Given the description of an element on the screen output the (x, y) to click on. 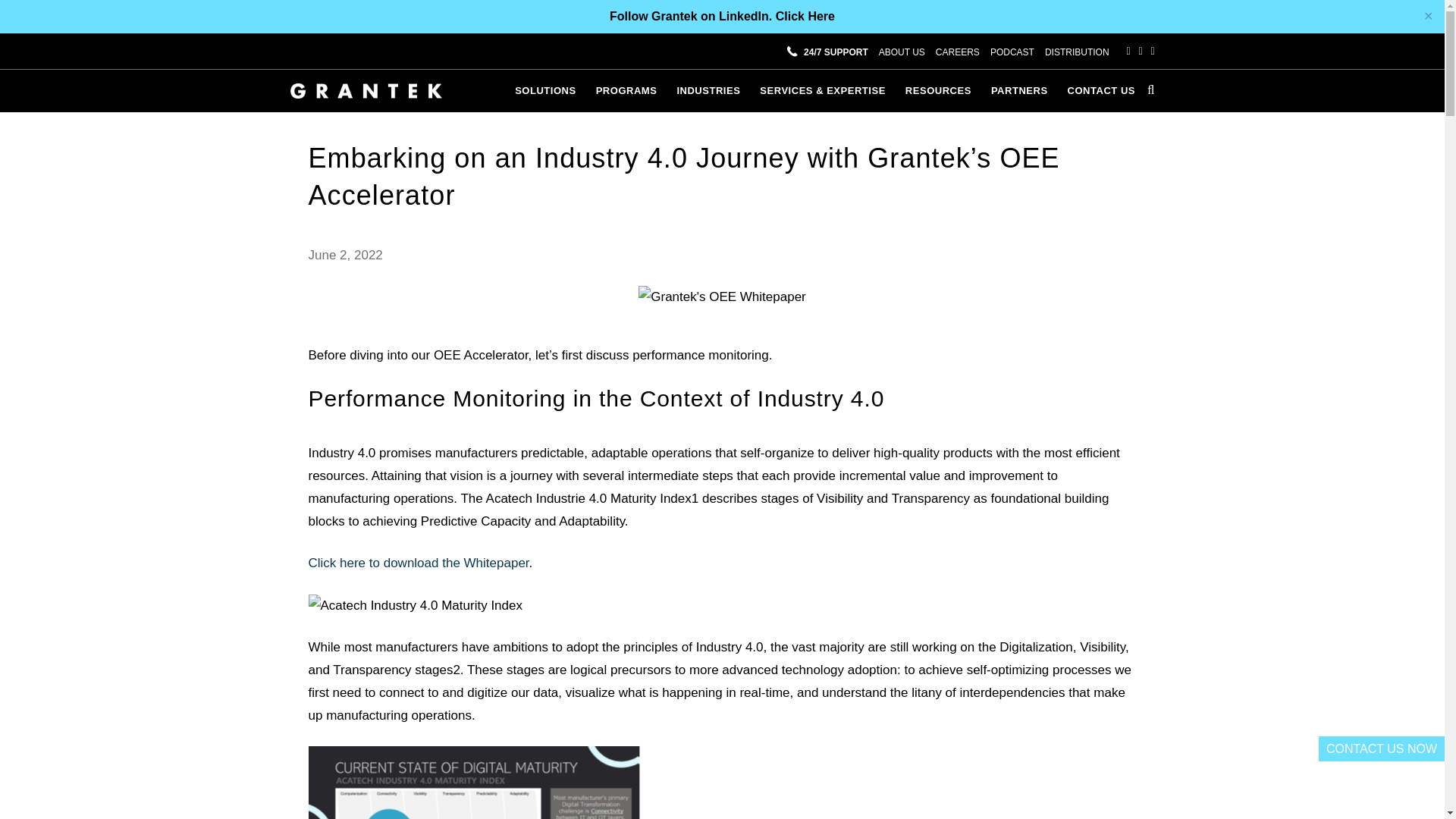
PODCAST (1011, 51)
PROGRAMS (628, 91)
ABOUT US (901, 51)
SOLUTIONS (547, 91)
INDUSTRIES (710, 91)
Click Here (805, 15)
DISTRIBUTION (1077, 51)
CAREERS (957, 51)
